Given the description of an element on the screen output the (x, y) to click on. 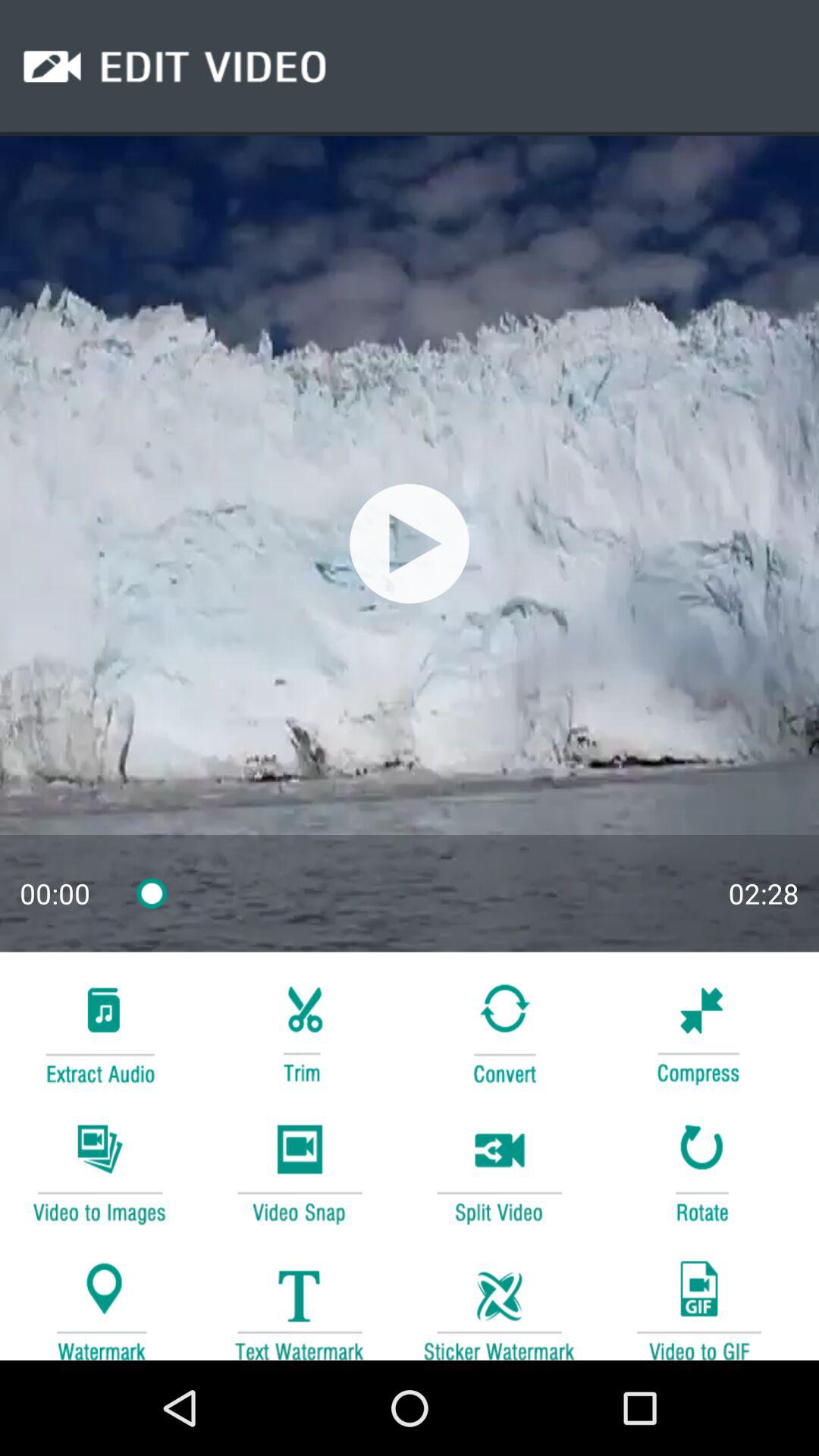
go to map (99, 1303)
